Given the description of an element on the screen output the (x, y) to click on. 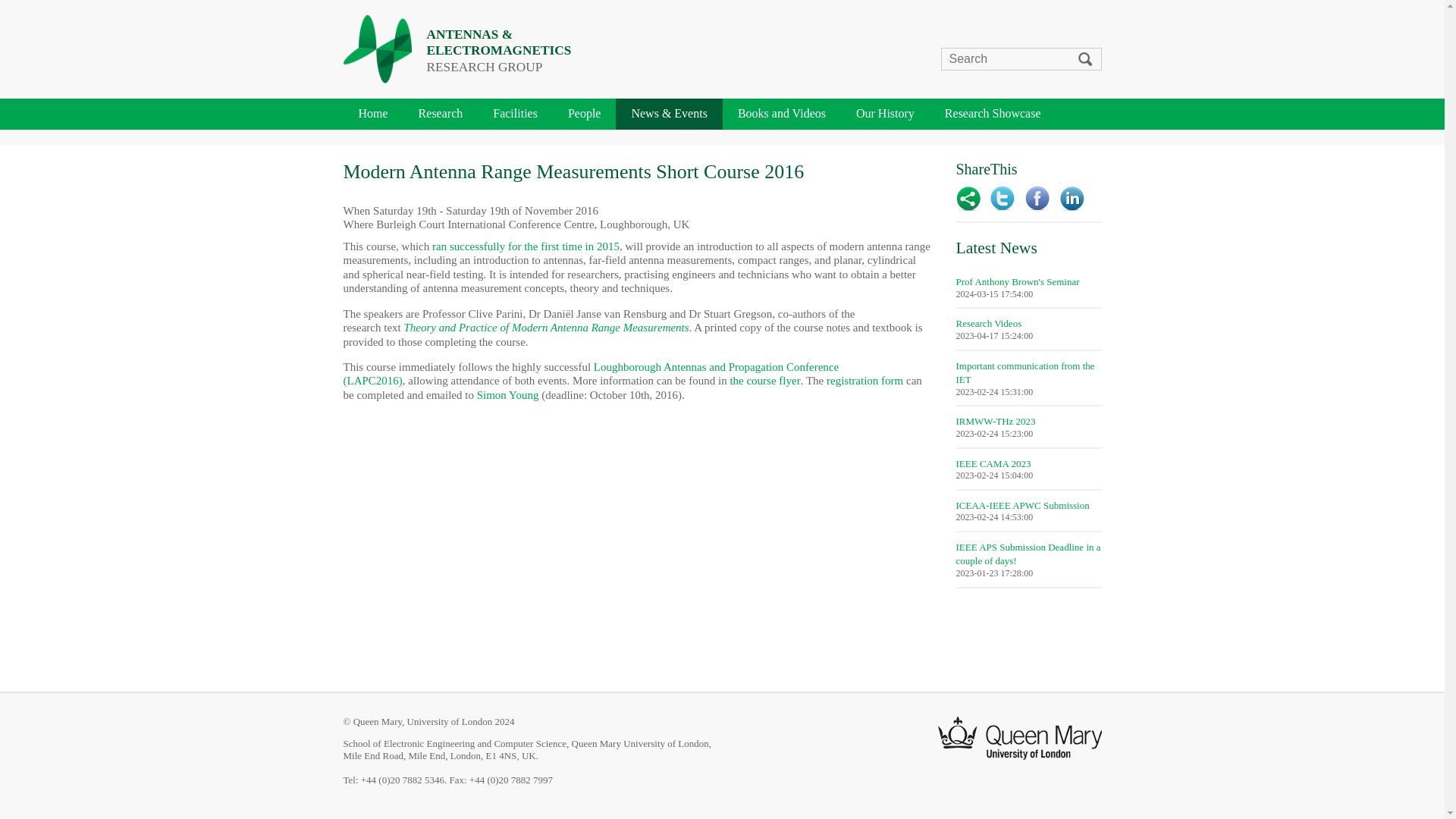
Facilities (515, 113)
People (584, 113)
Our History (885, 113)
Home (372, 113)
Short course in Modern Antenna Range Measurements (526, 246)
Research (441, 113)
Books and Videos (781, 113)
Research Showcase (993, 113)
